Given the description of an element on the screen output the (x, y) to click on. 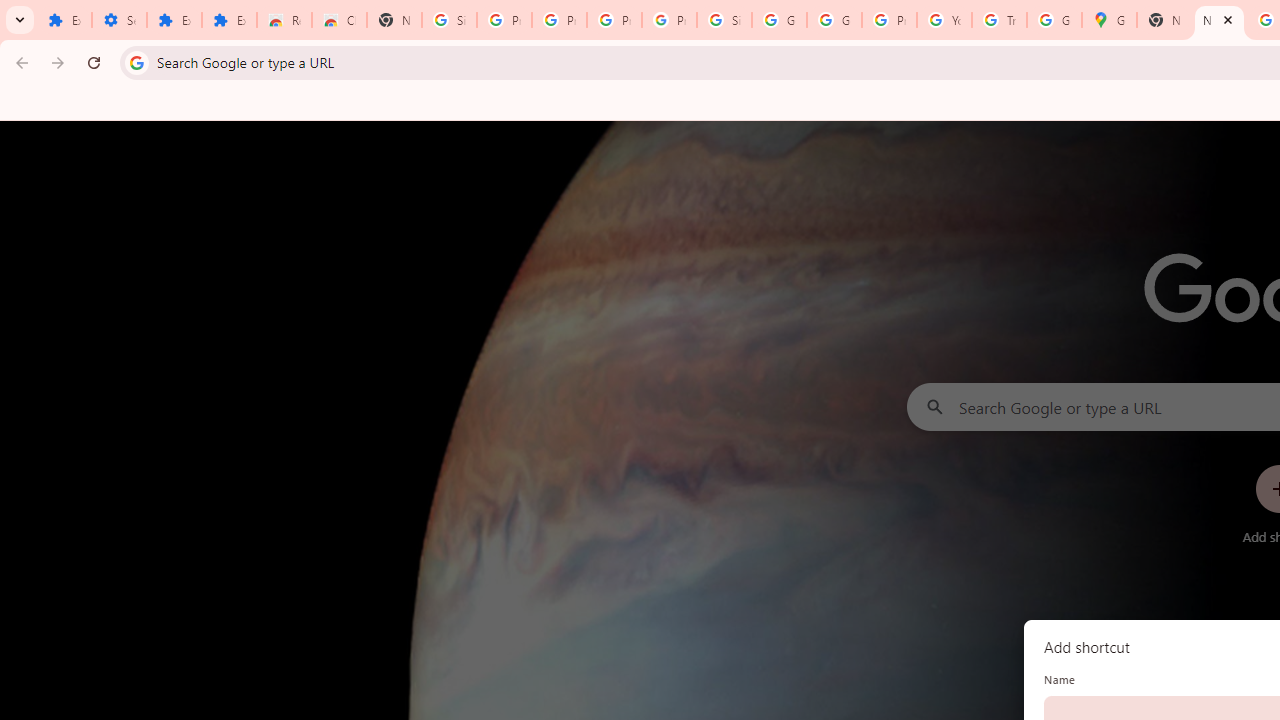
New Tab (394, 20)
Settings (119, 20)
Google Maps (1108, 20)
Extensions (174, 20)
Extensions (64, 20)
